Given the description of an element on the screen output the (x, y) to click on. 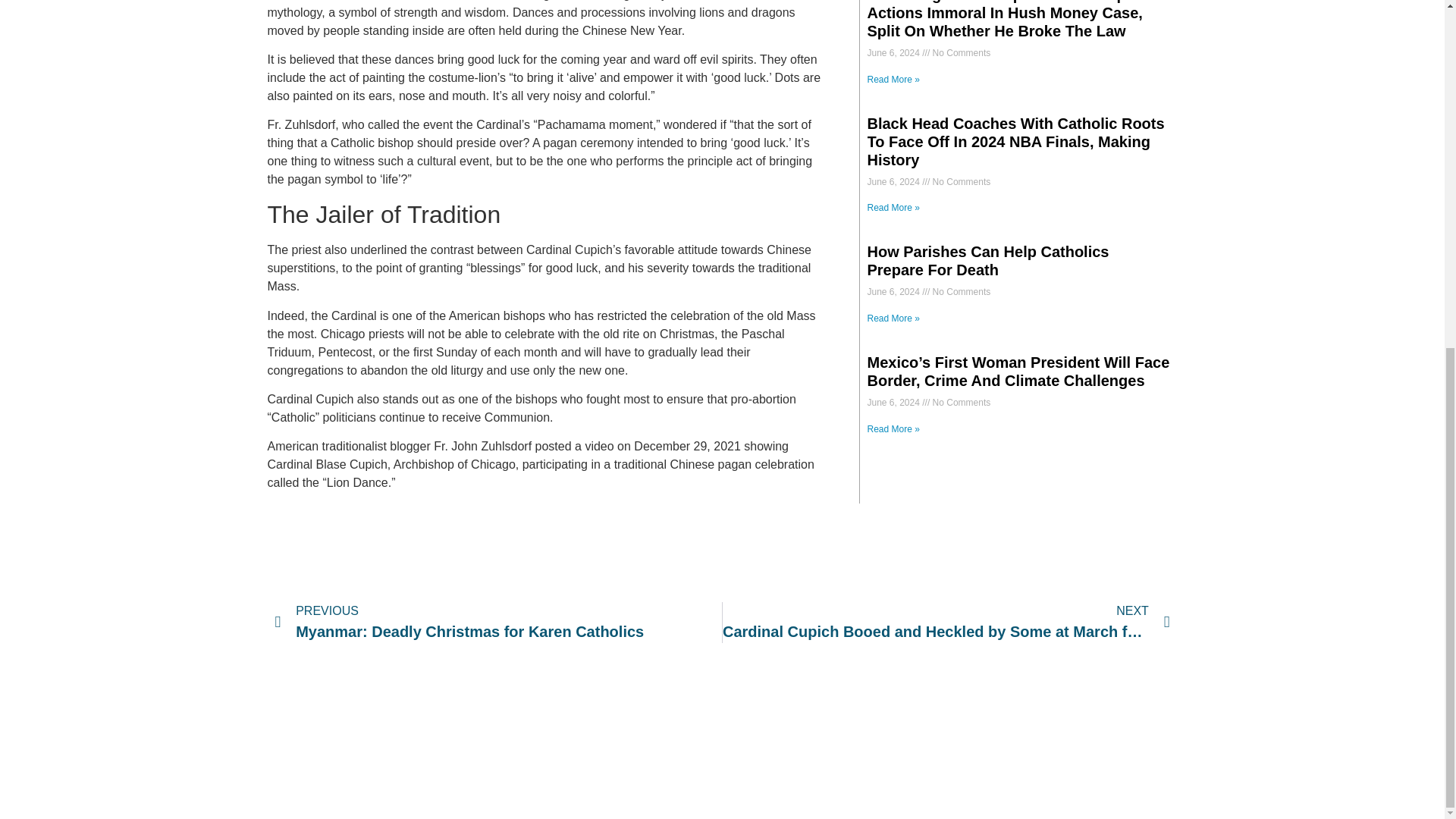
How Parishes Can Help Catholics Prepare For Death (988, 260)
